Given the description of an element on the screen output the (x, y) to click on. 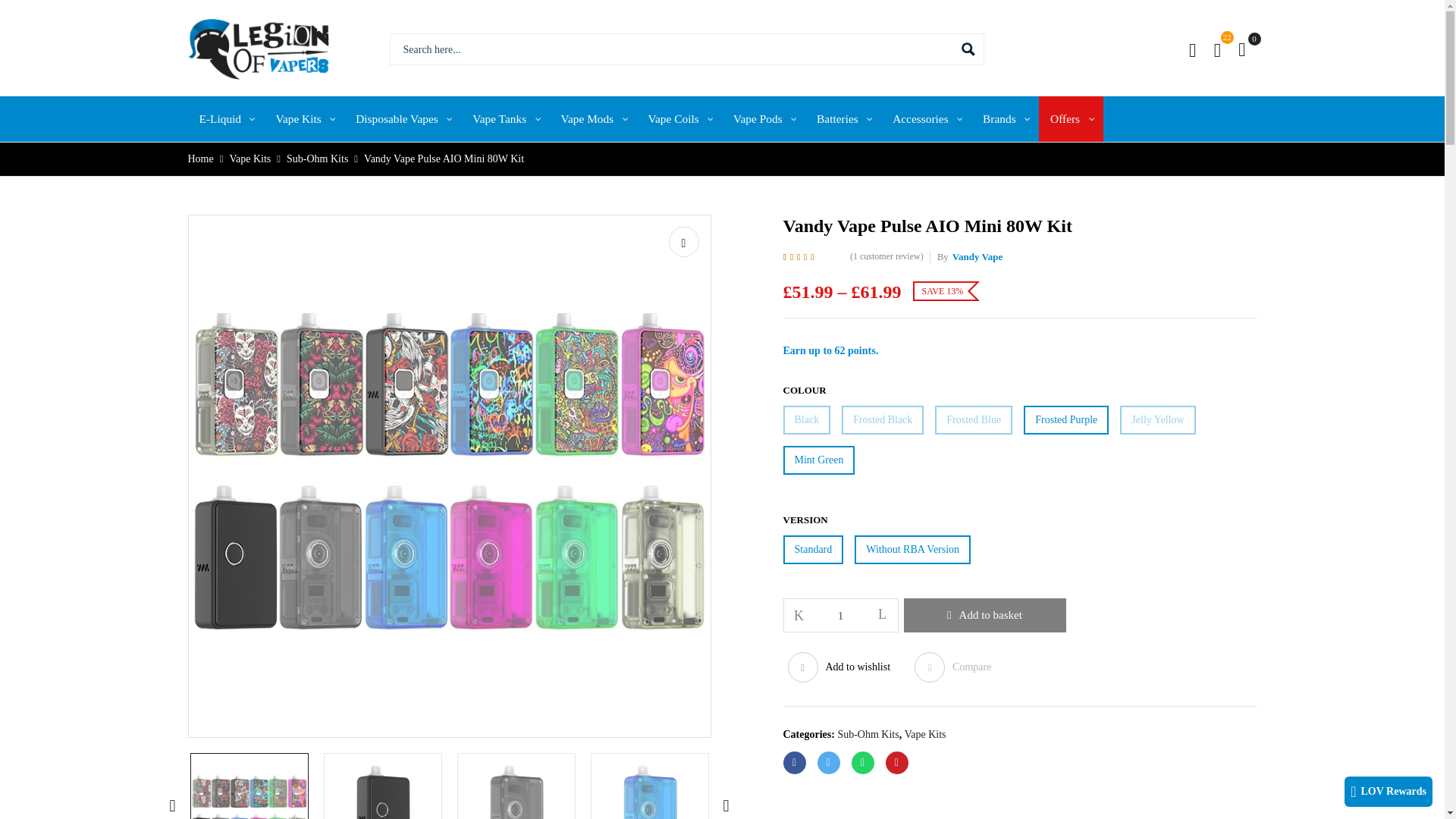
E-Liquid (225, 118)
Vape Tanks (504, 118)
Disposable Vapes (402, 118)
E-Liquid (225, 118)
1 (841, 615)
Vape Kits (303, 118)
